Given the description of an element on the screen output the (x, y) to click on. 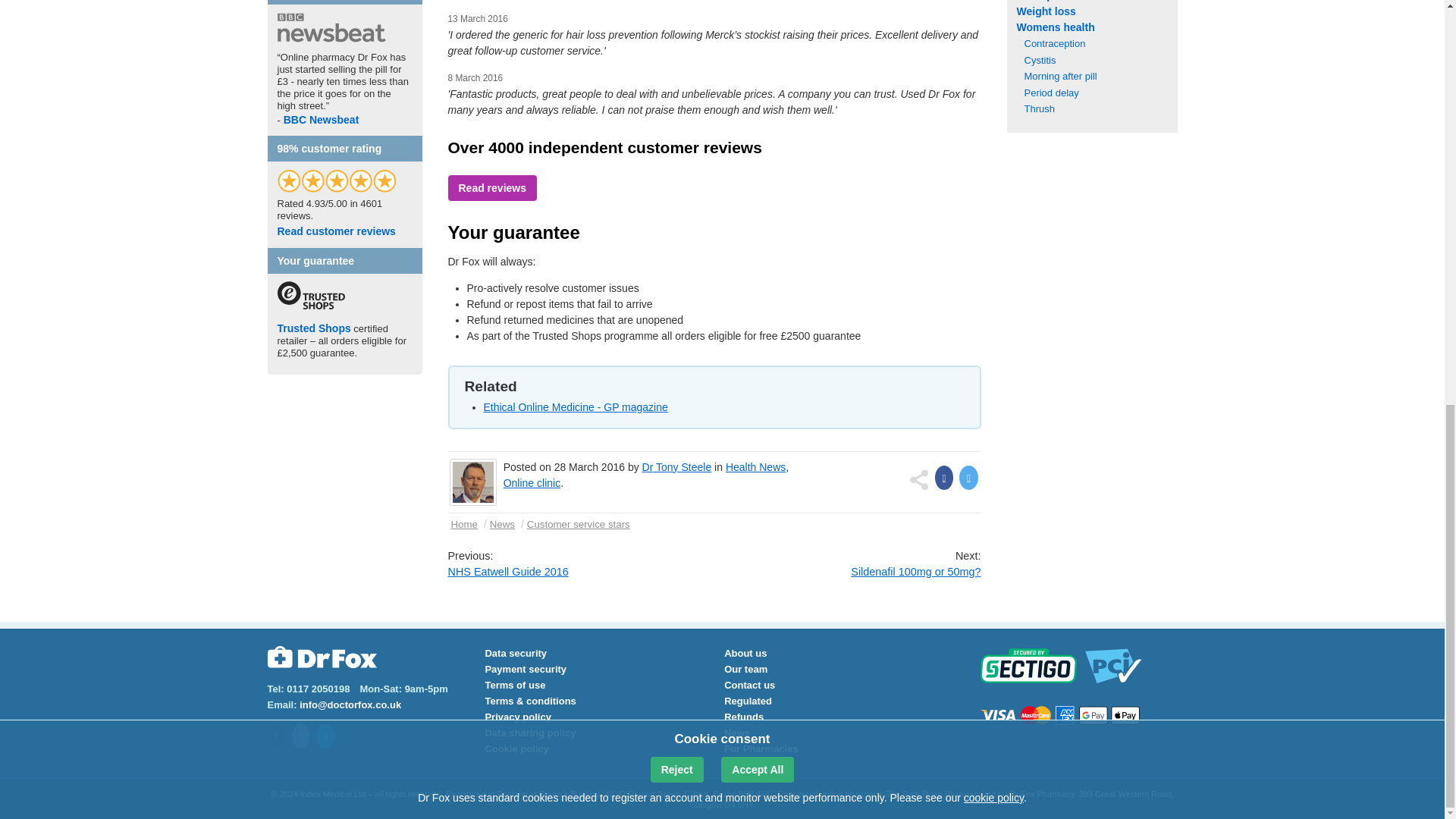
Limited (359, 793)
Doctor (647, 467)
British Broadcasting Corporation (294, 119)
